Given the description of an element on the screen output the (x, y) to click on. 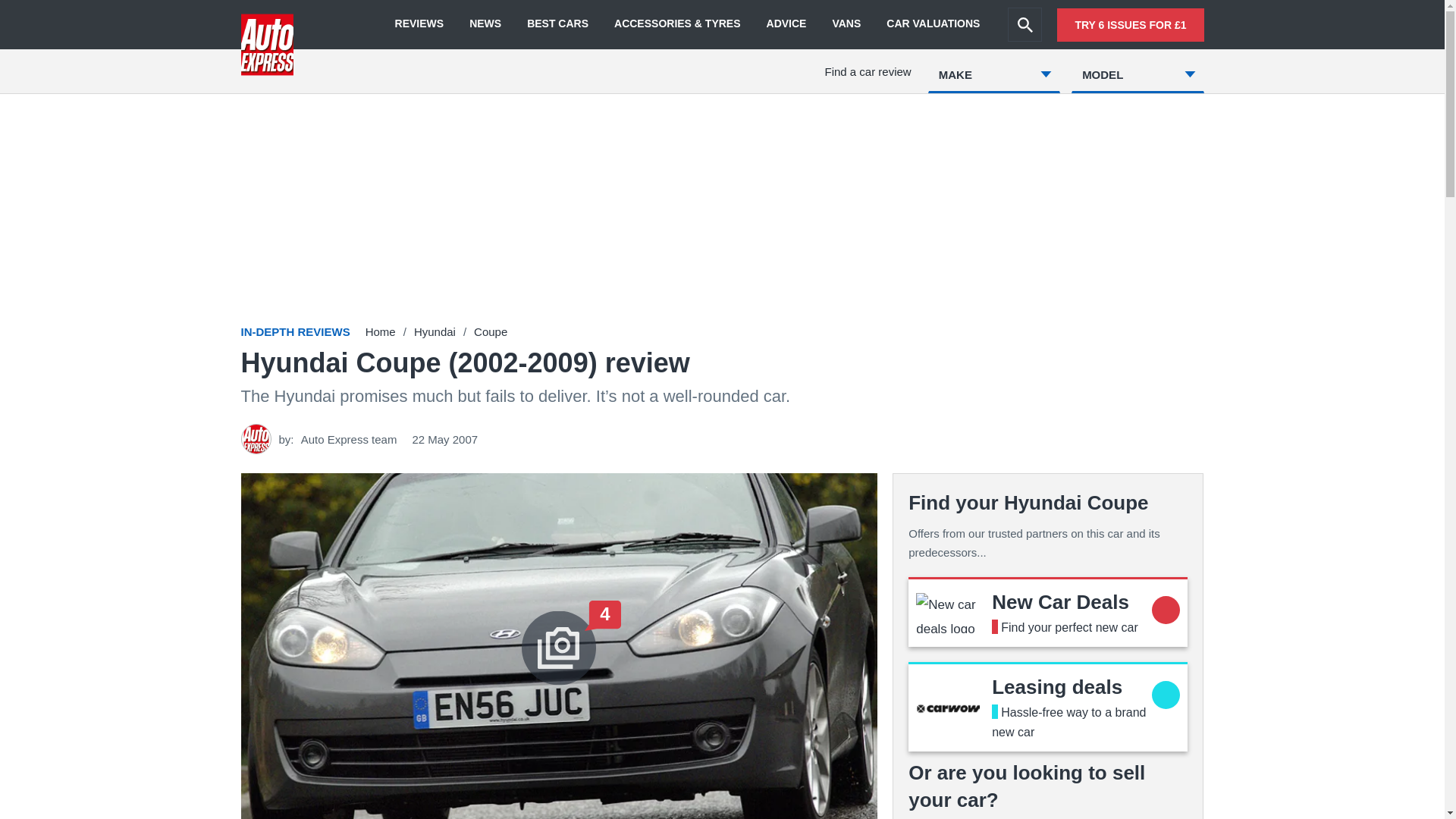
CAR VALUATIONS (932, 24)
REVIEWS (419, 24)
BEST CARS (557, 24)
NEWS (485, 24)
Search (1024, 24)
ADVICE (786, 24)
Search (1024, 24)
VANS (845, 24)
